Given the description of an element on the screen output the (x, y) to click on. 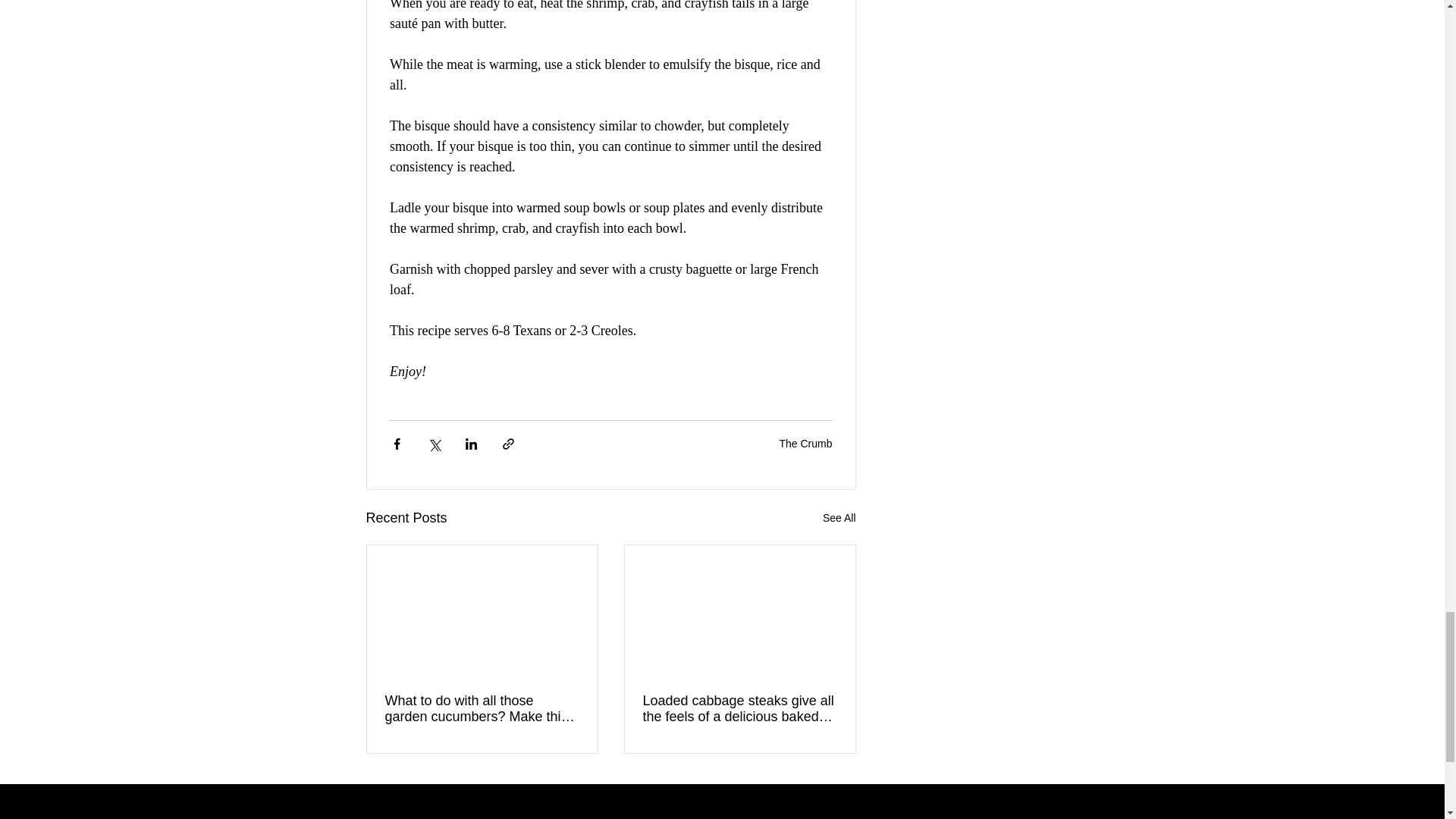
The Crumb (804, 443)
See All (839, 517)
